Given the description of an element on the screen output the (x, y) to click on. 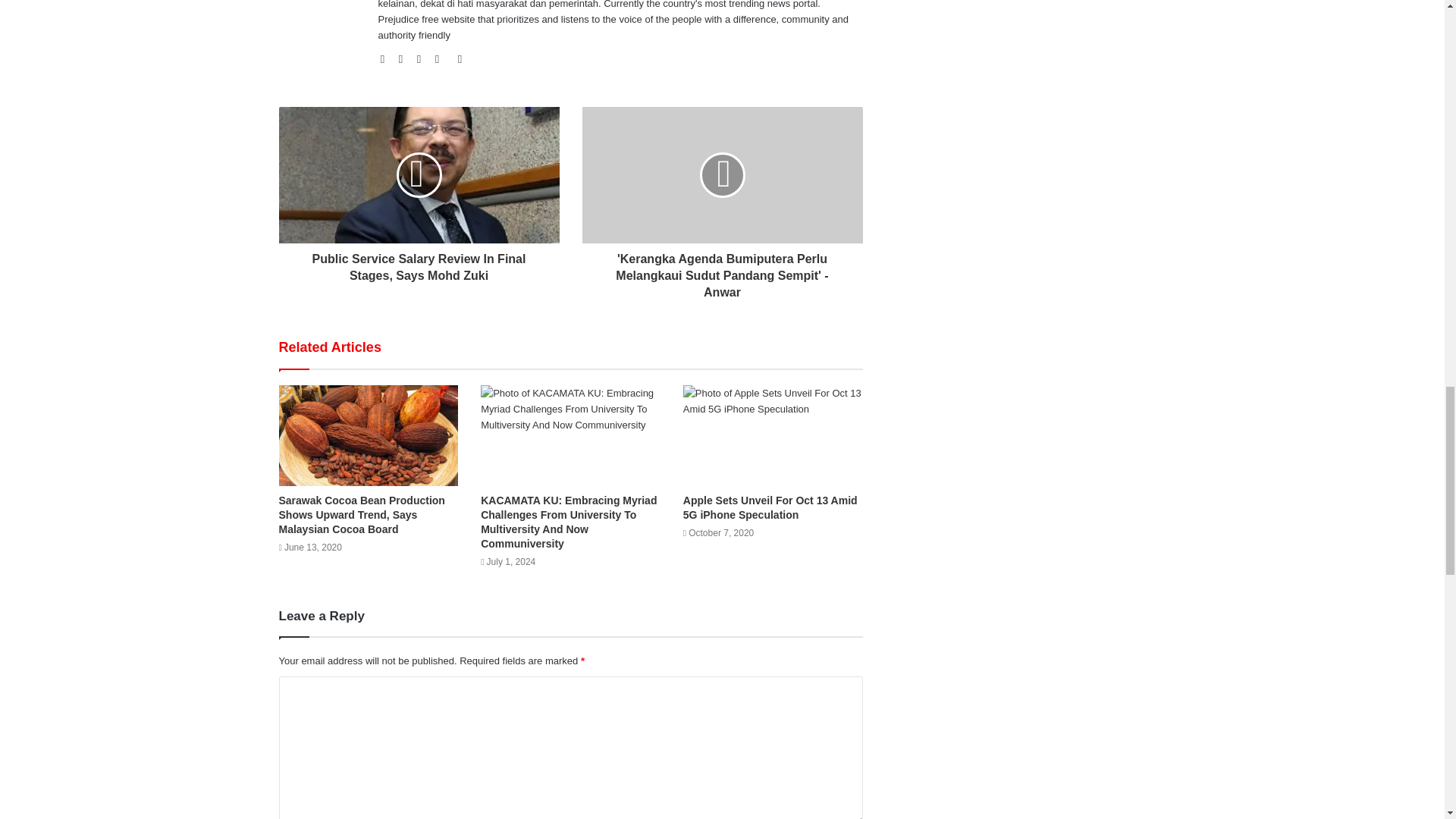
Website (386, 59)
Facebook (404, 59)
Twitter (422, 59)
